Given the description of an element on the screen output the (x, y) to click on. 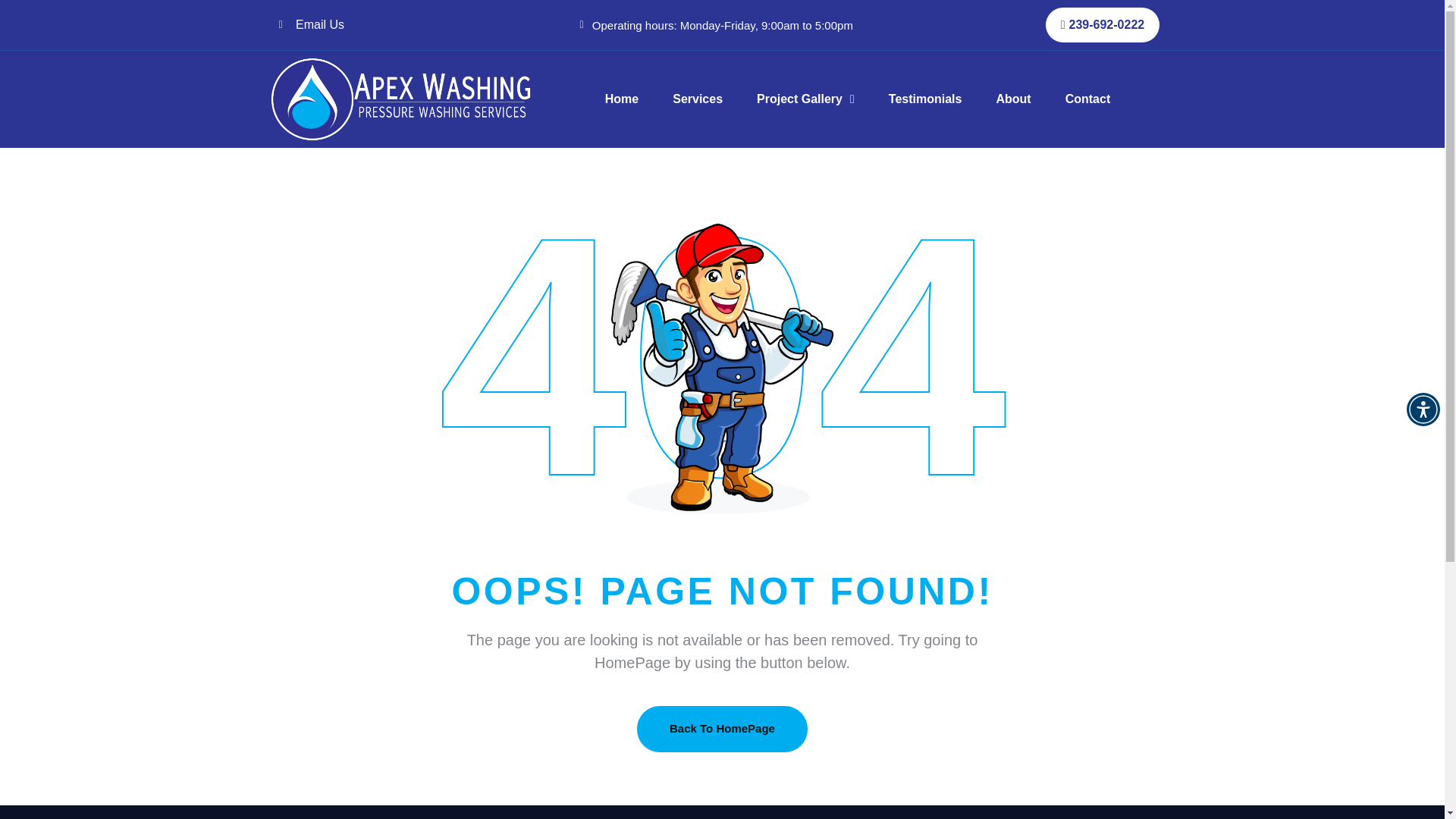
Accessibility Menu (1422, 409)
Home (525, 99)
Services (609, 99)
239-692-0222 (1101, 24)
Contact (1067, 99)
Testimonials (896, 99)
About (989, 99)
Email Us (312, 25)
Back To HomePage (722, 728)
Project Gallery (725, 99)
